Given the description of an element on the screen output the (x, y) to click on. 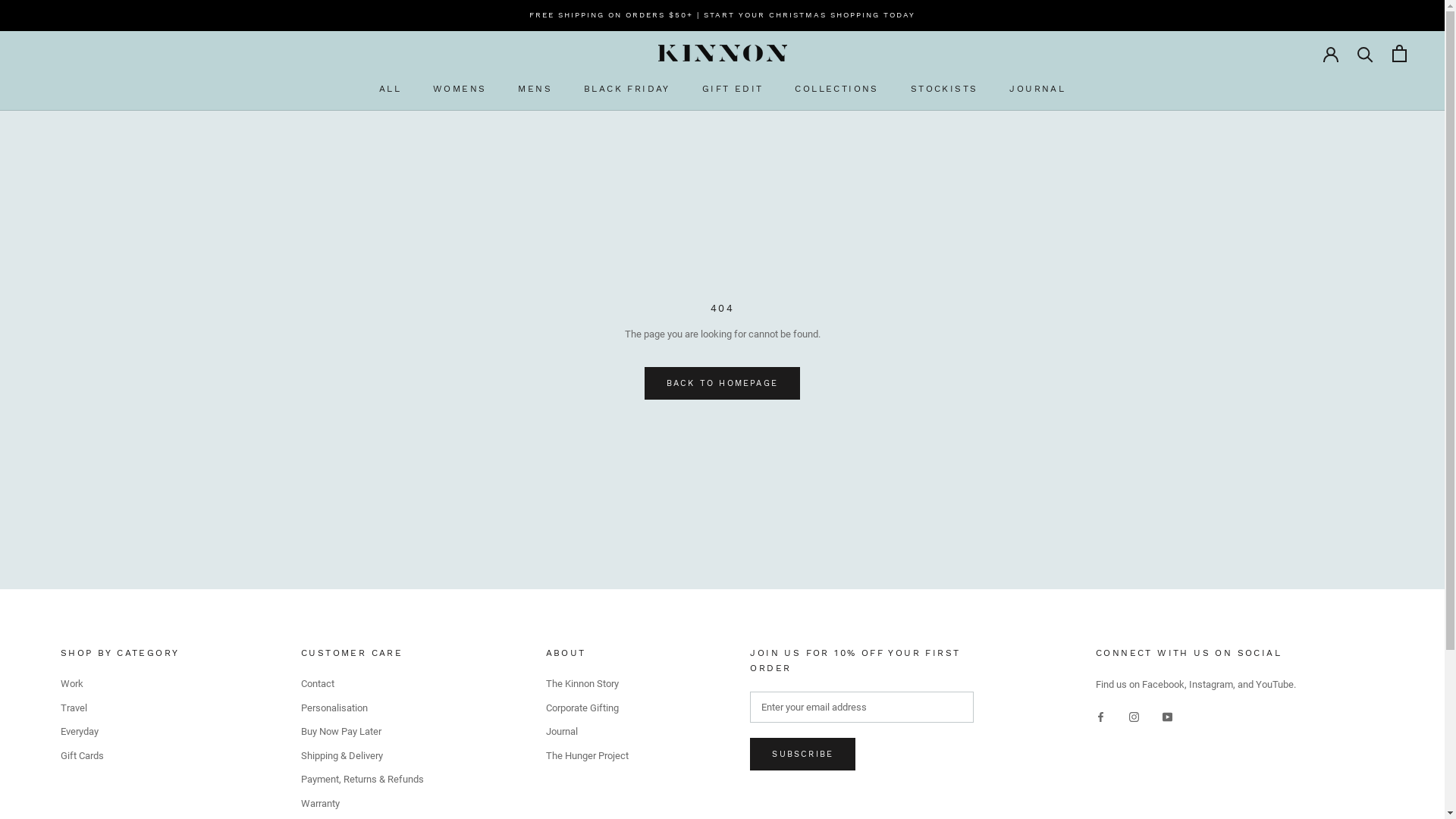
Payment, Returns & Refunds Element type: text (362, 779)
Travel Element type: text (119, 707)
Corporate Gifting Element type: text (587, 707)
COLLECTIONS Element type: text (836, 88)
Gift Cards Element type: text (119, 755)
WOMENS
WOMENS Element type: text (459, 88)
MENS
MENS Element type: text (534, 88)
The Kinnon Story Element type: text (587, 683)
ALL
ALL Element type: text (390, 88)
GIFT EDIT
GIFT EDIT Element type: text (732, 88)
STOCKISTS
STOCKISTS Element type: text (944, 88)
Journal Element type: text (587, 731)
Warranty Element type: text (362, 803)
BLACK FRIDAY Element type: text (626, 88)
The Hunger Project Element type: text (587, 755)
Contact Element type: text (362, 683)
Everyday Element type: text (119, 731)
Shipping & Delivery Element type: text (362, 755)
BACK TO HOMEPAGE Element type: text (722, 383)
Personalisation Element type: text (362, 707)
JOURNAL
JOURNAL Element type: text (1037, 88)
Work Element type: text (119, 683)
Buy Now Pay Later Element type: text (362, 731)
SUBSCRIBE Element type: text (802, 753)
